Given the description of an element on the screen output the (x, y) to click on. 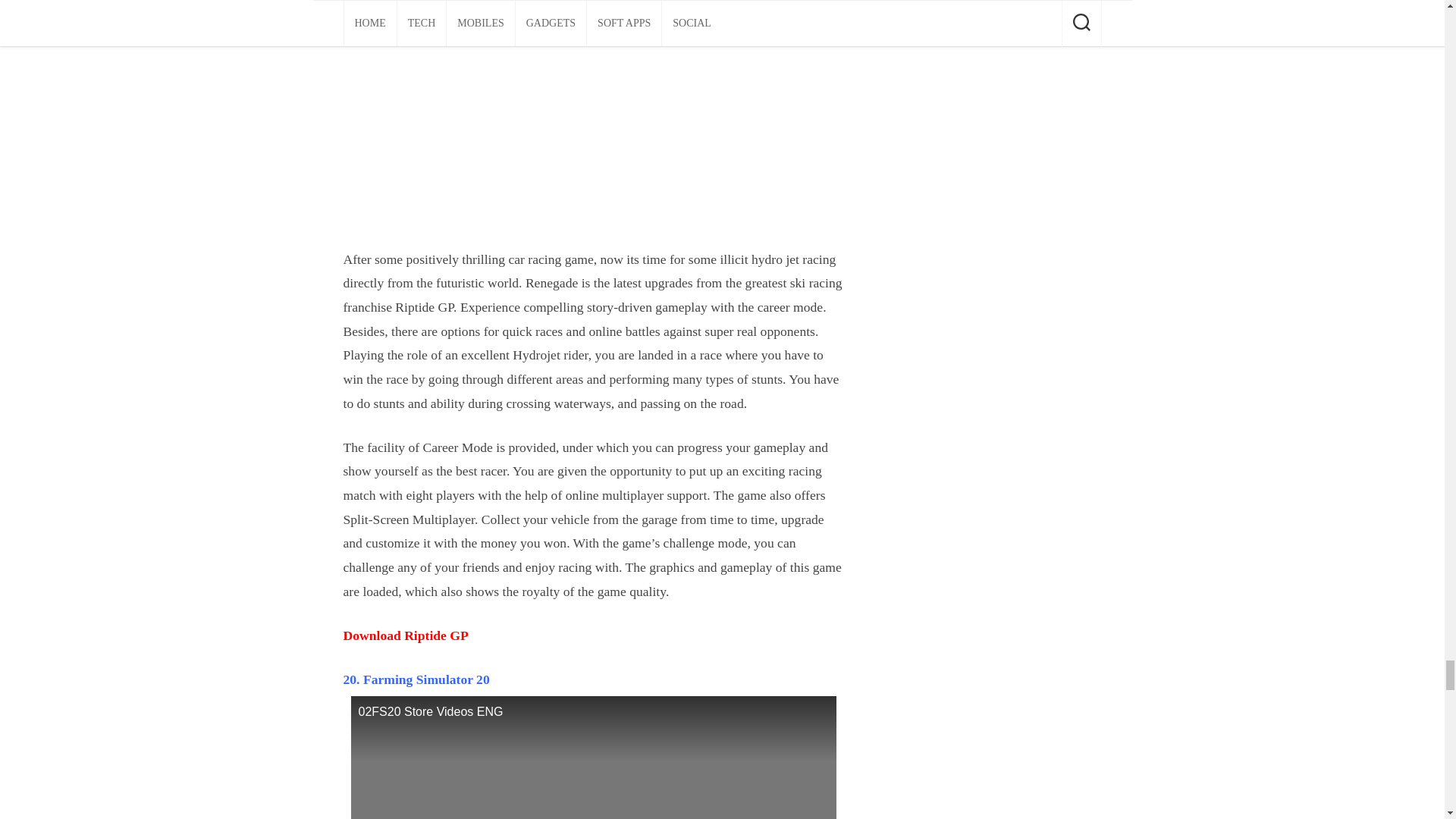
02FS20 Store Videos ENG (592, 757)
Download Riptide GP (404, 635)
